Given the description of an element on the screen output the (x, y) to click on. 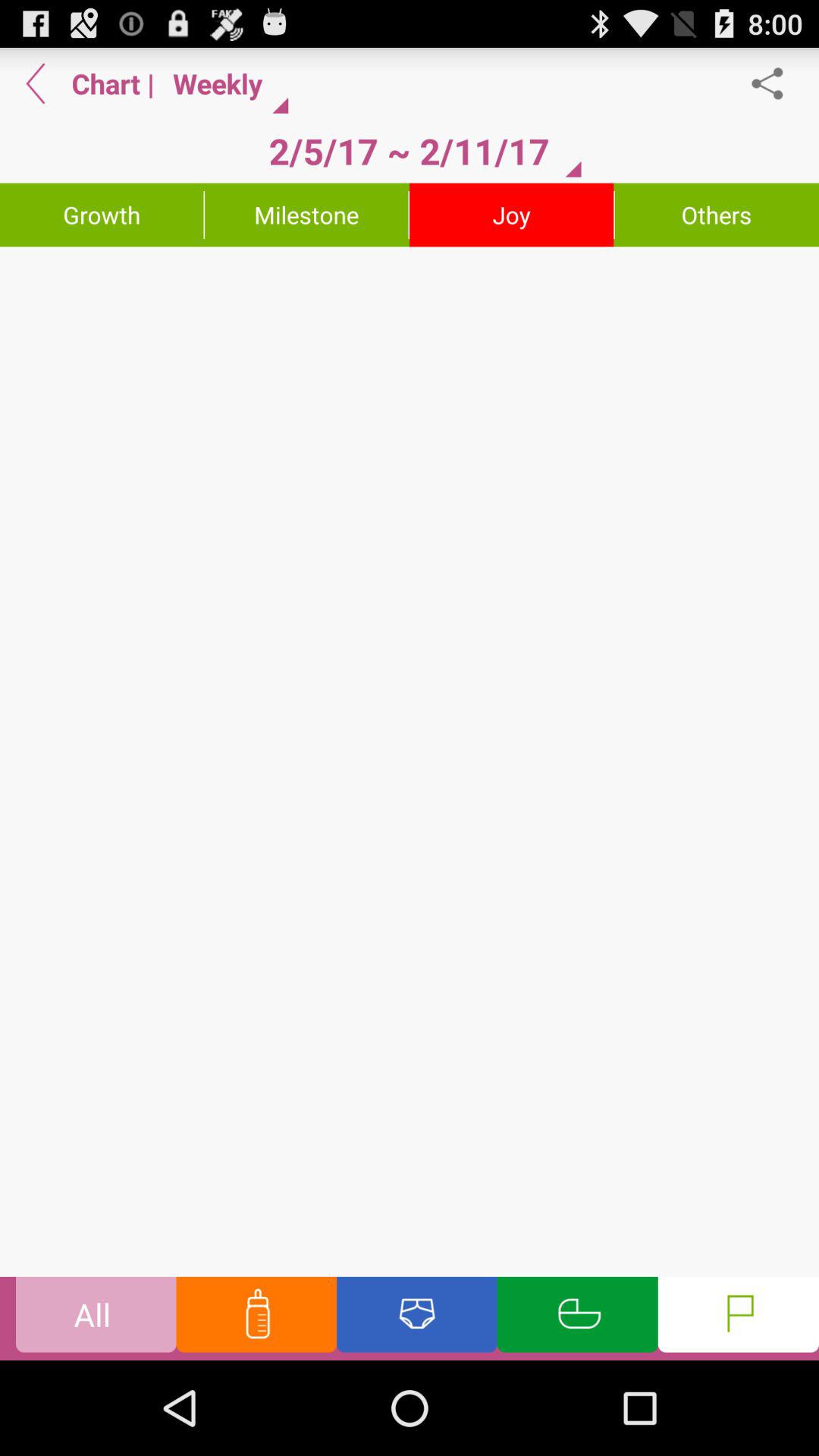
add feeding (256, 1318)
